Given the description of an element on the screen output the (x, y) to click on. 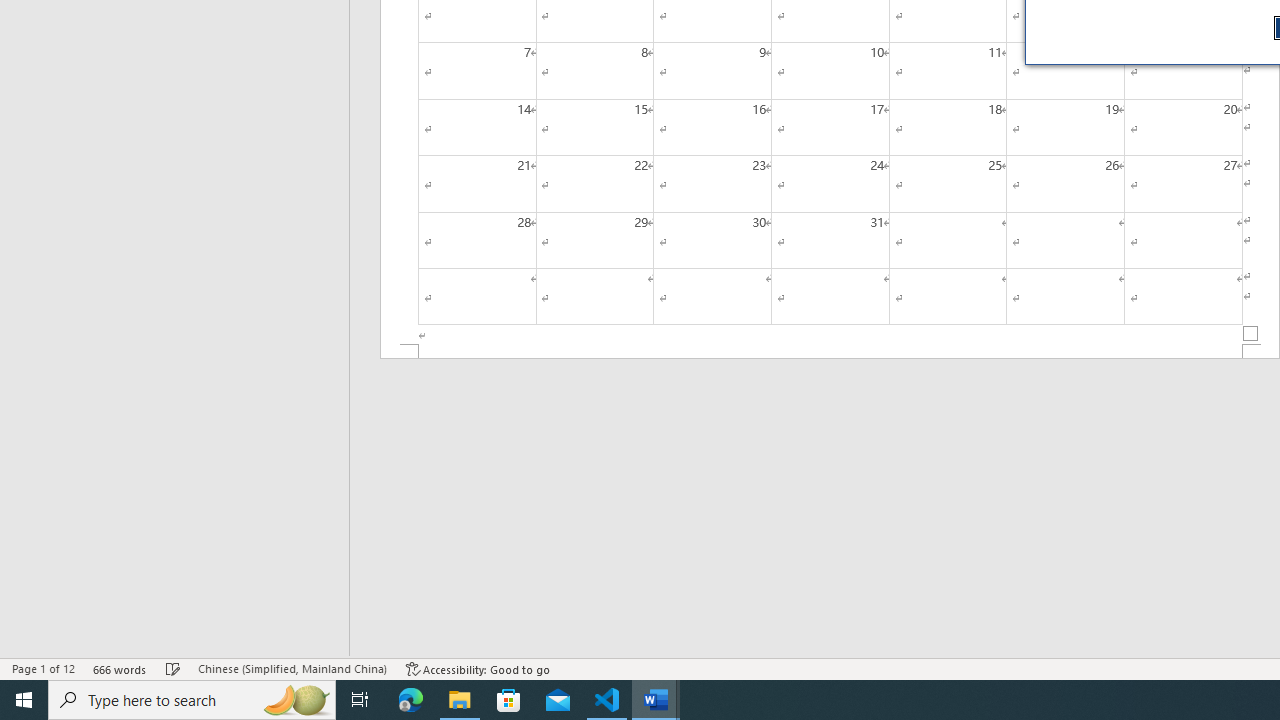
Word Count 666 words (119, 668)
Page Number Page 1 of 12 (43, 668)
Word - 2 running windows (656, 699)
Microsoft Edge (411, 699)
File Explorer - 1 running window (460, 699)
